Given the description of an element on the screen output the (x, y) to click on. 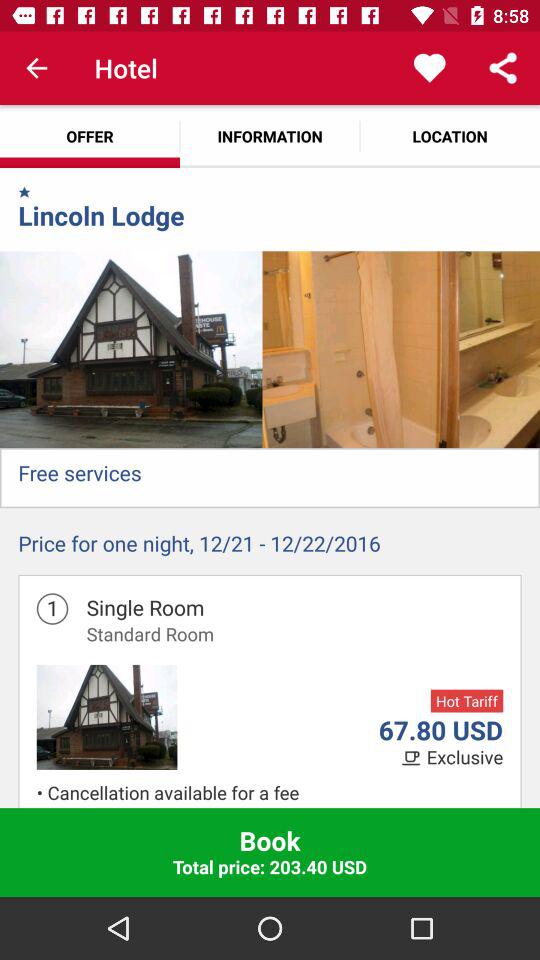
swipe to the information item (270, 136)
